Given the description of an element on the screen output the (x, y) to click on. 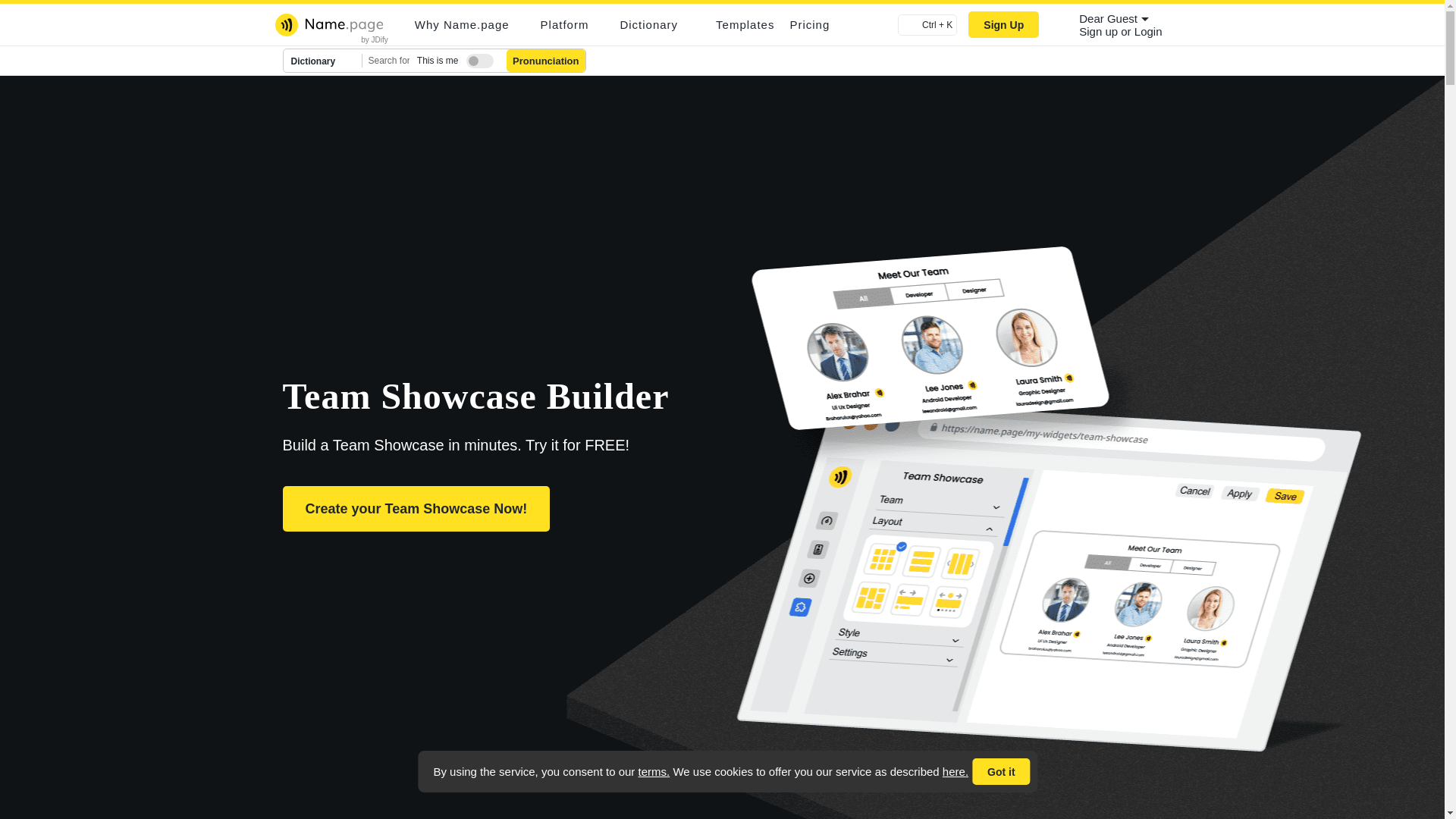
Sign Up (1003, 24)
Sign up (1099, 31)
Login (1147, 31)
Search name pronunciation (545, 60)
by JDify (374, 39)
Dictionary (322, 60)
Sign in to your account (1147, 31)
Is this your name? (476, 58)
Sign-up it's free and takes just 2 minutes (1099, 31)
Pricing (809, 24)
Pronunciation (545, 60)
Templates (745, 24)
